Given the description of an element on the screen output the (x, y) to click on. 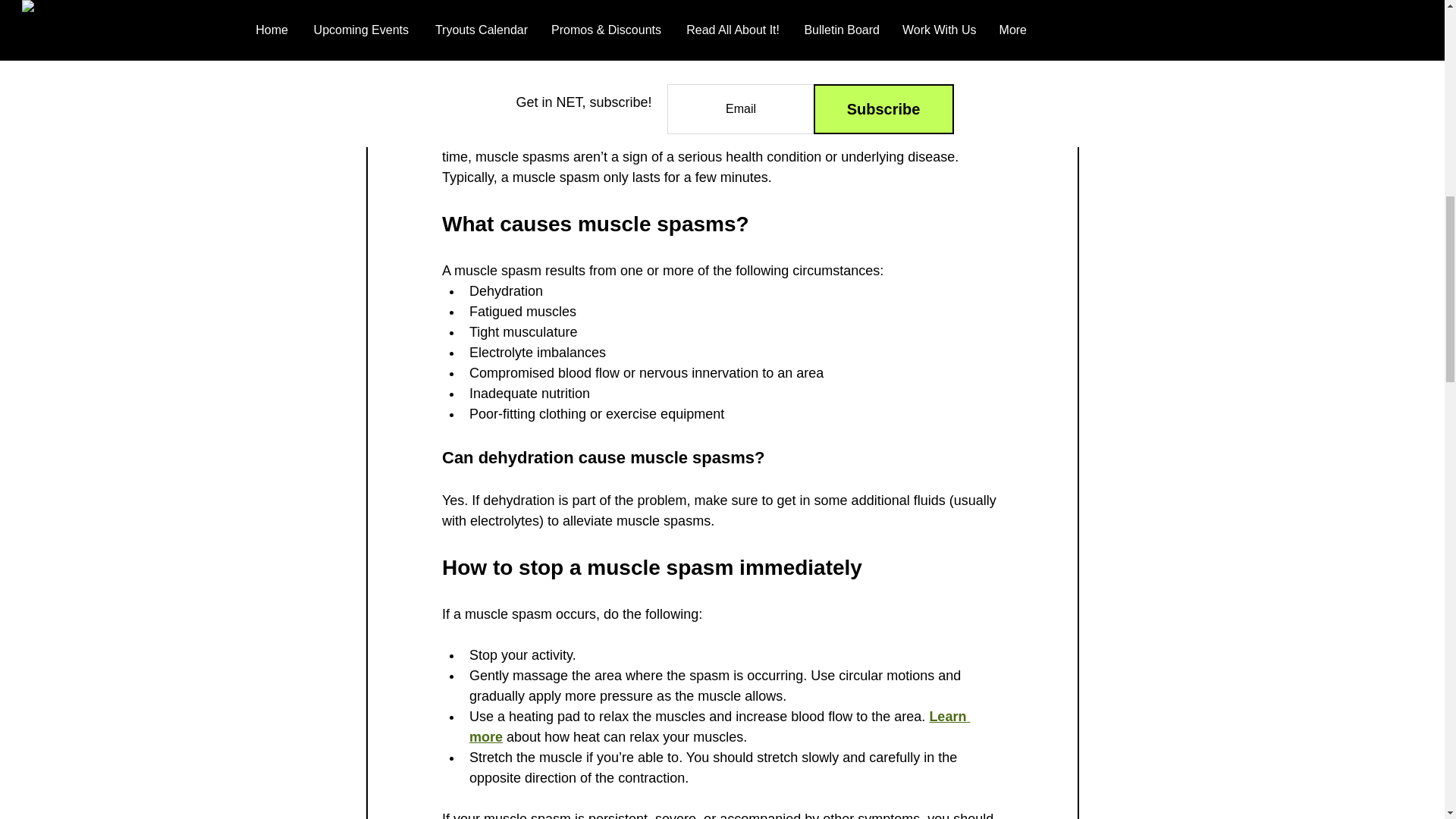
Learn more (718, 726)
